Given the description of an element on the screen output the (x, y) to click on. 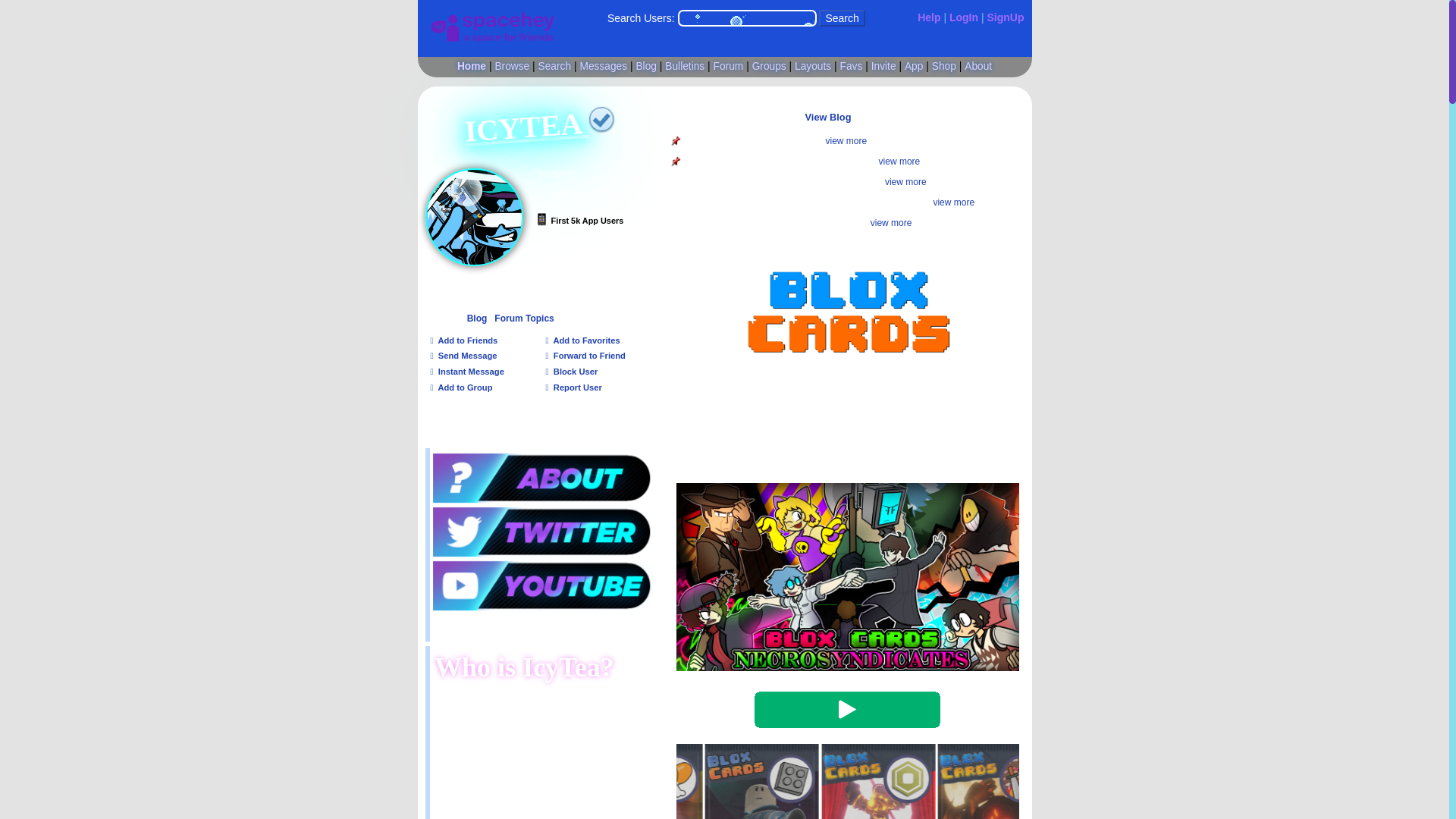
Forward to Friend (586, 355)
Pinned Blog Entry (676, 162)
Add to Favorites (583, 339)
LogIn (963, 17)
Blog (477, 317)
Messages (603, 66)
Blog (645, 66)
Favs (851, 66)
SignUp (1006, 17)
About (977, 66)
